Given the description of an element on the screen output the (x, y) to click on. 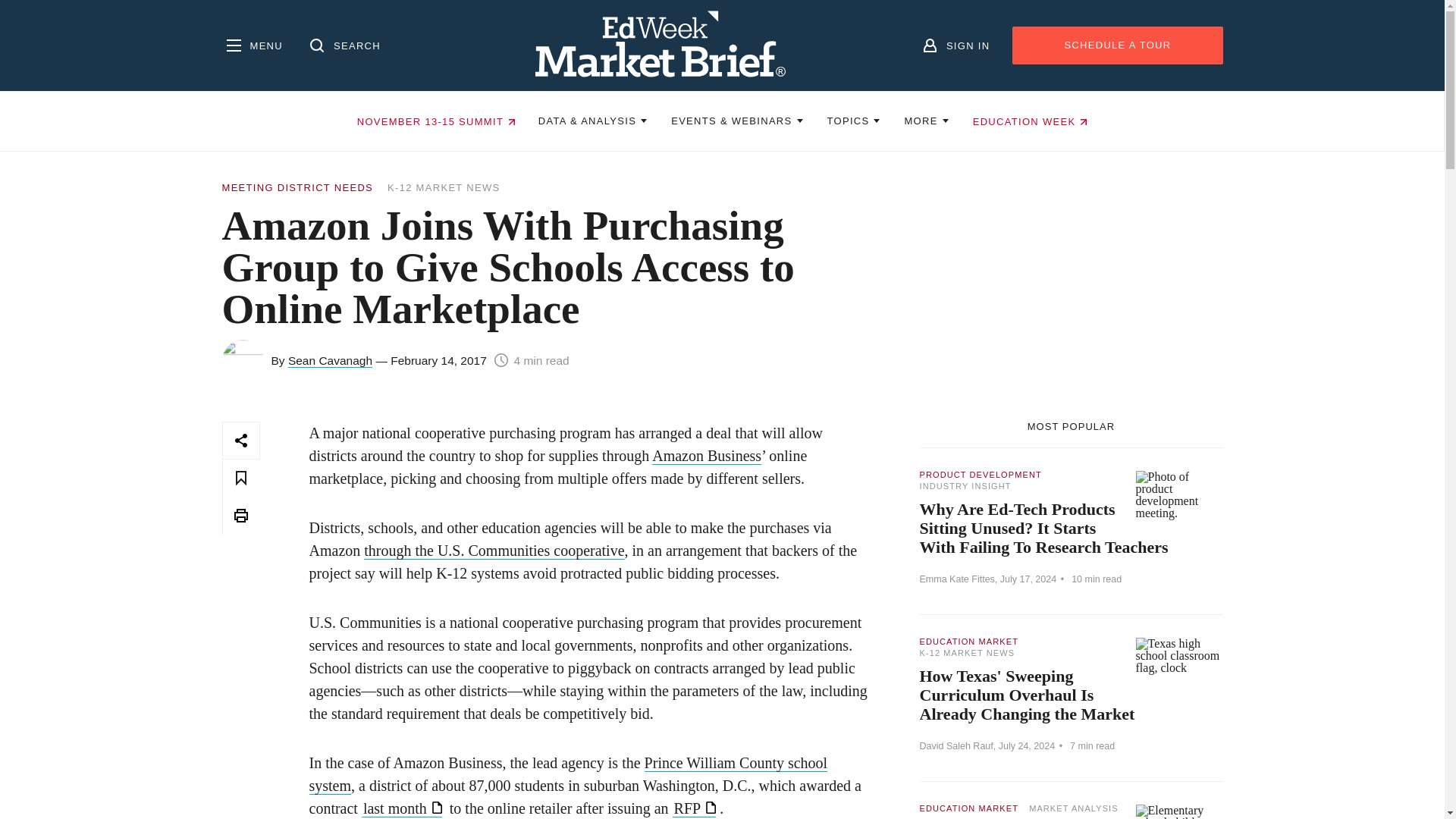
SEARCH (342, 45)
MENU (251, 45)
SIGN IN (954, 45)
Homepage (660, 45)
SCHEDULE A TOUR (1117, 45)
